Given the description of an element on the screen output the (x, y) to click on. 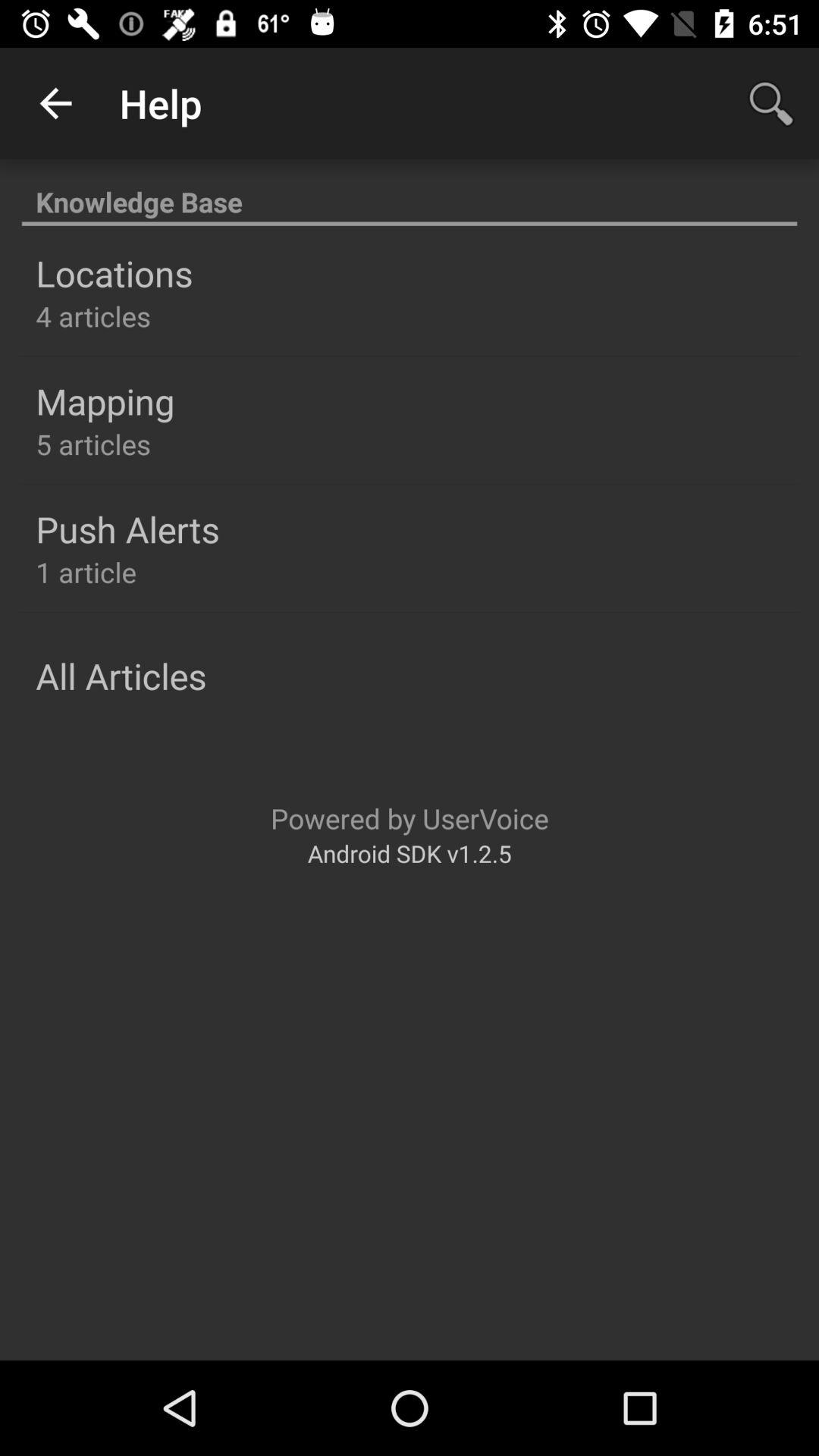
open the icon next to the help app (55, 103)
